Given the description of an element on the screen output the (x, y) to click on. 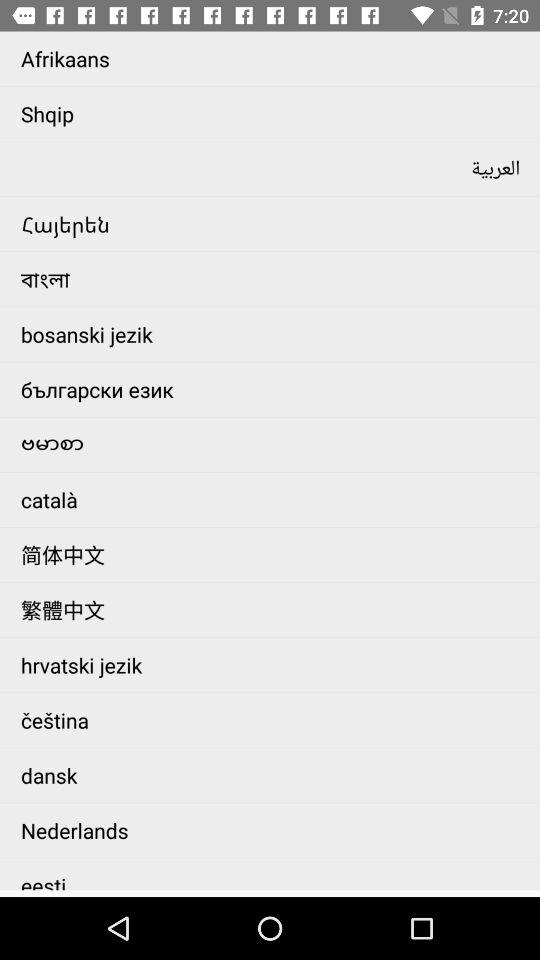
open app above nederlands icon (275, 775)
